Given the description of an element on the screen output the (x, y) to click on. 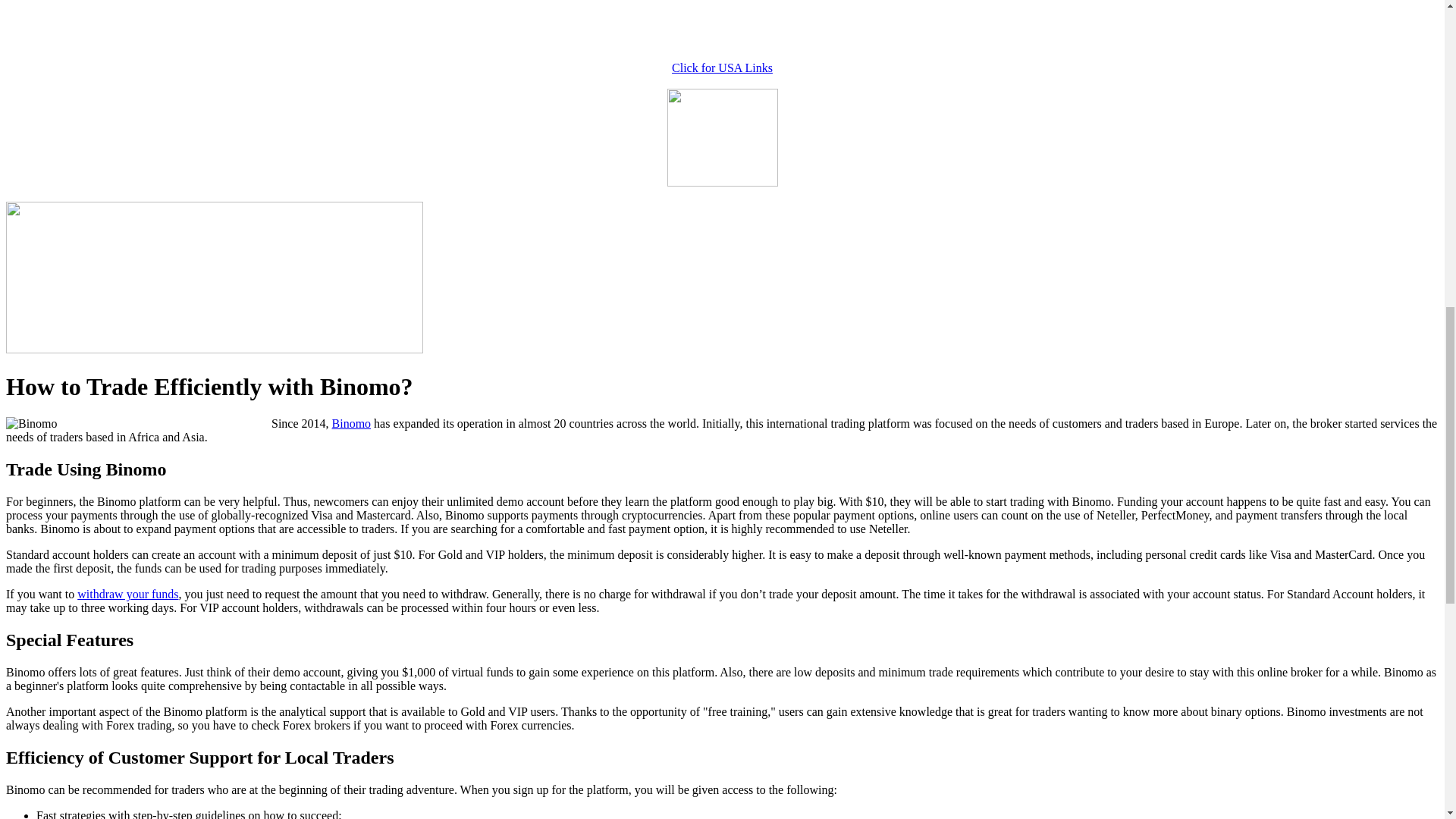
Click for USA Links (722, 67)
Binomo (351, 422)
withdraw your funds (127, 594)
